Given the description of an element on the screen output the (x, y) to click on. 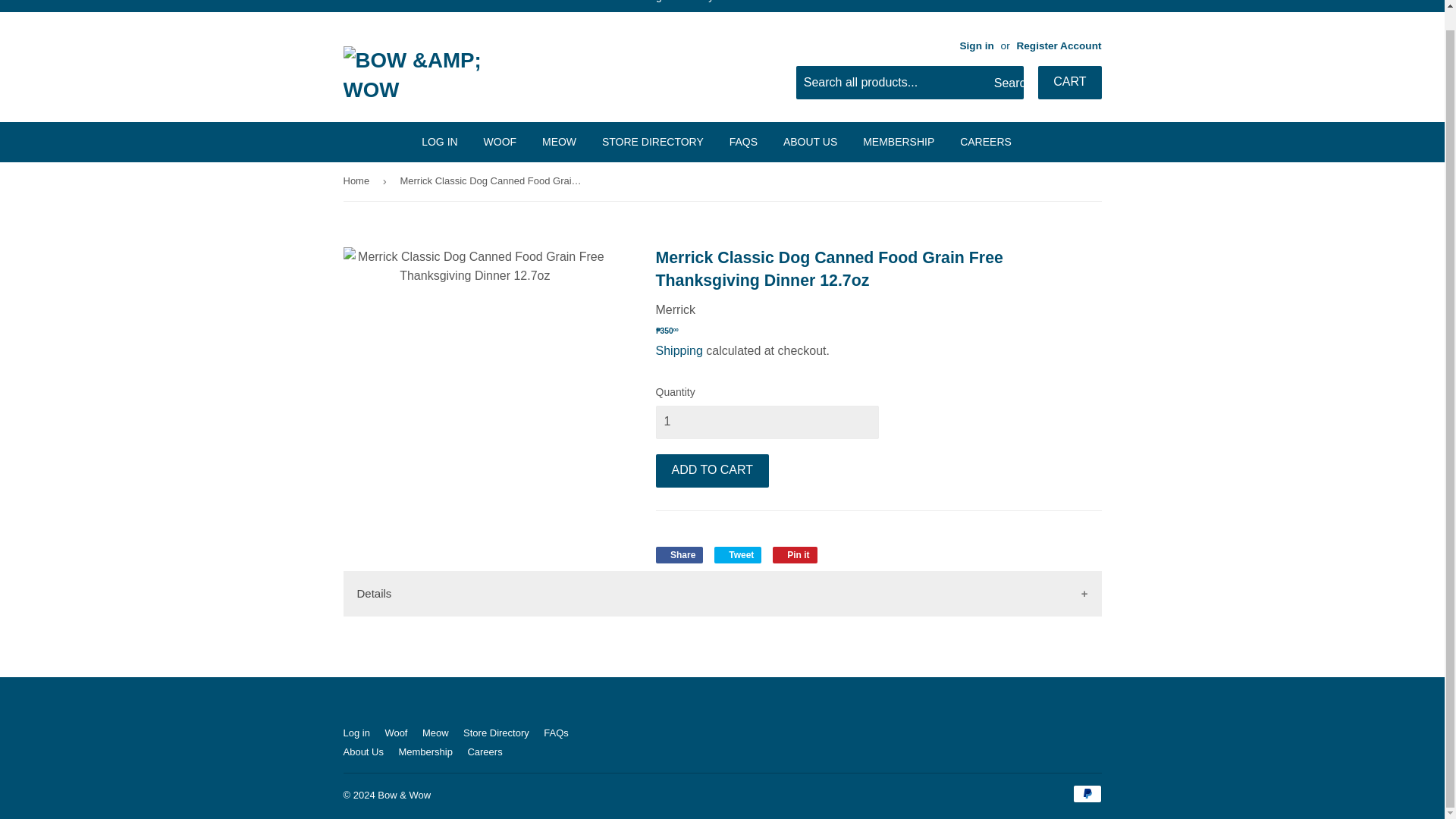
1 (766, 421)
Search (1006, 83)
CART (1069, 82)
Sign in (975, 45)
Share on Facebook (679, 555)
PayPal (1085, 793)
Register Account (1058, 45)
Pin on Pinterest (794, 555)
Tweet on Twitter (737, 555)
